Given the description of an element on the screen output the (x, y) to click on. 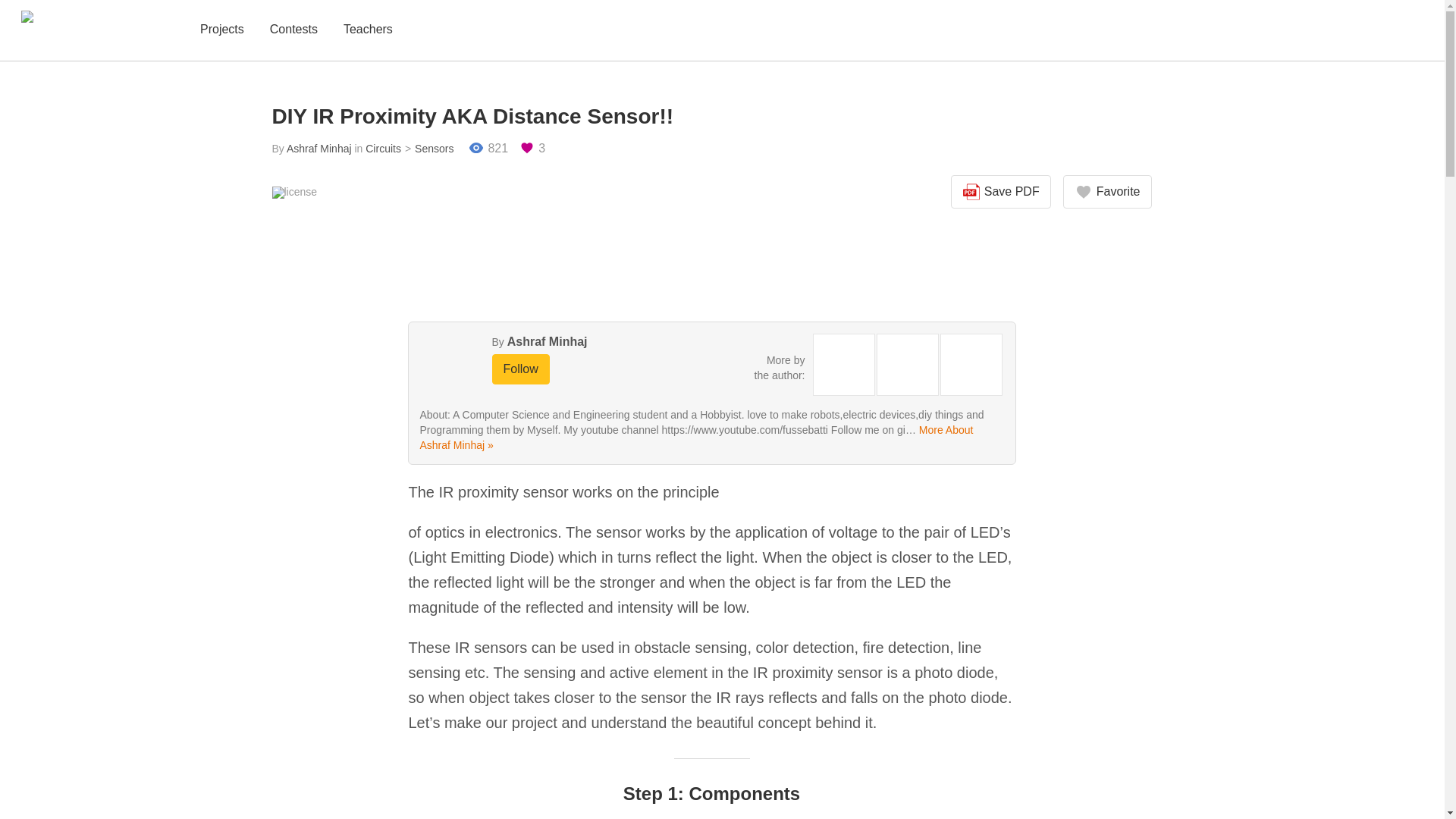
Teachers (368, 30)
Ashraf Minhaj (547, 341)
Favorite (1106, 191)
Circuits (383, 148)
Follow (520, 368)
Projects (221, 30)
Contests (293, 30)
Sensors (427, 148)
Ashraf Minhaj (319, 148)
Save PDF (1000, 191)
